Given the description of an element on the screen output the (x, y) to click on. 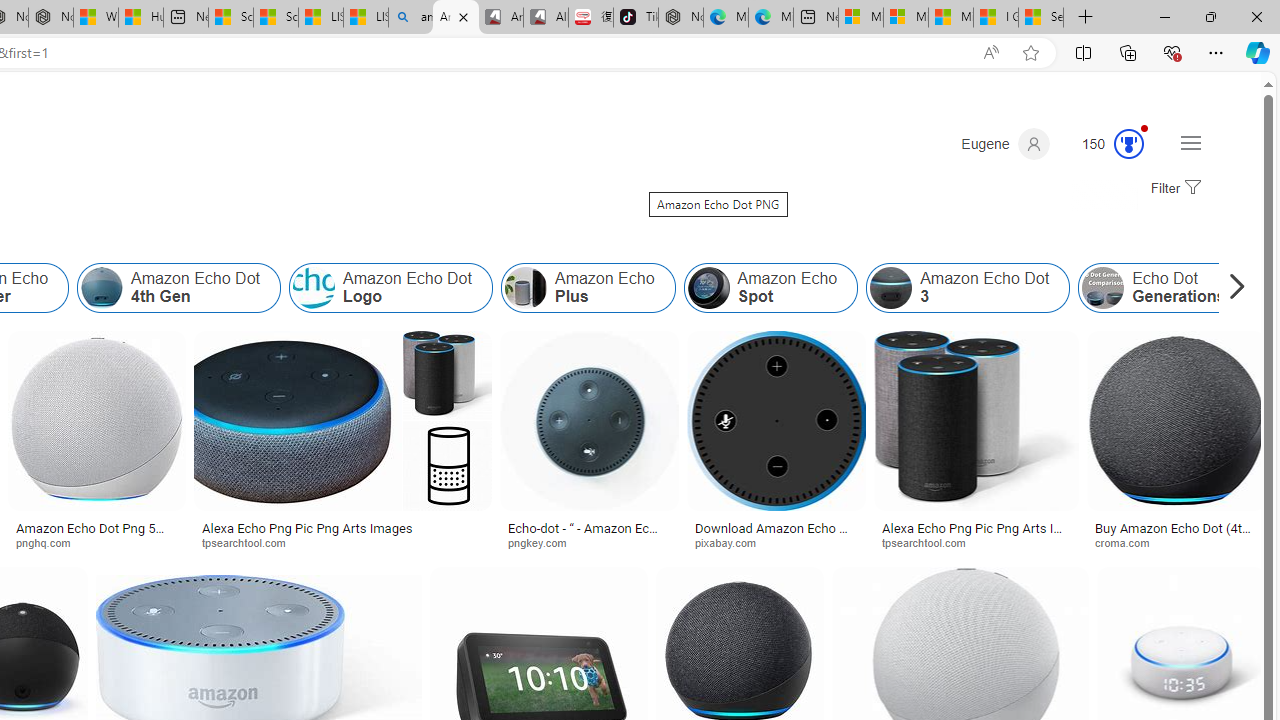
Amazon Echo Dot PNG - Search Images (455, 17)
Settings and quick links (1190, 142)
Amazon Echo Dot 3 (891, 287)
tpsearchtool.com (930, 541)
pnghq.com (49, 541)
Amazon Echo Spot (770, 287)
